Given the description of an element on the screen output the (x, y) to click on. 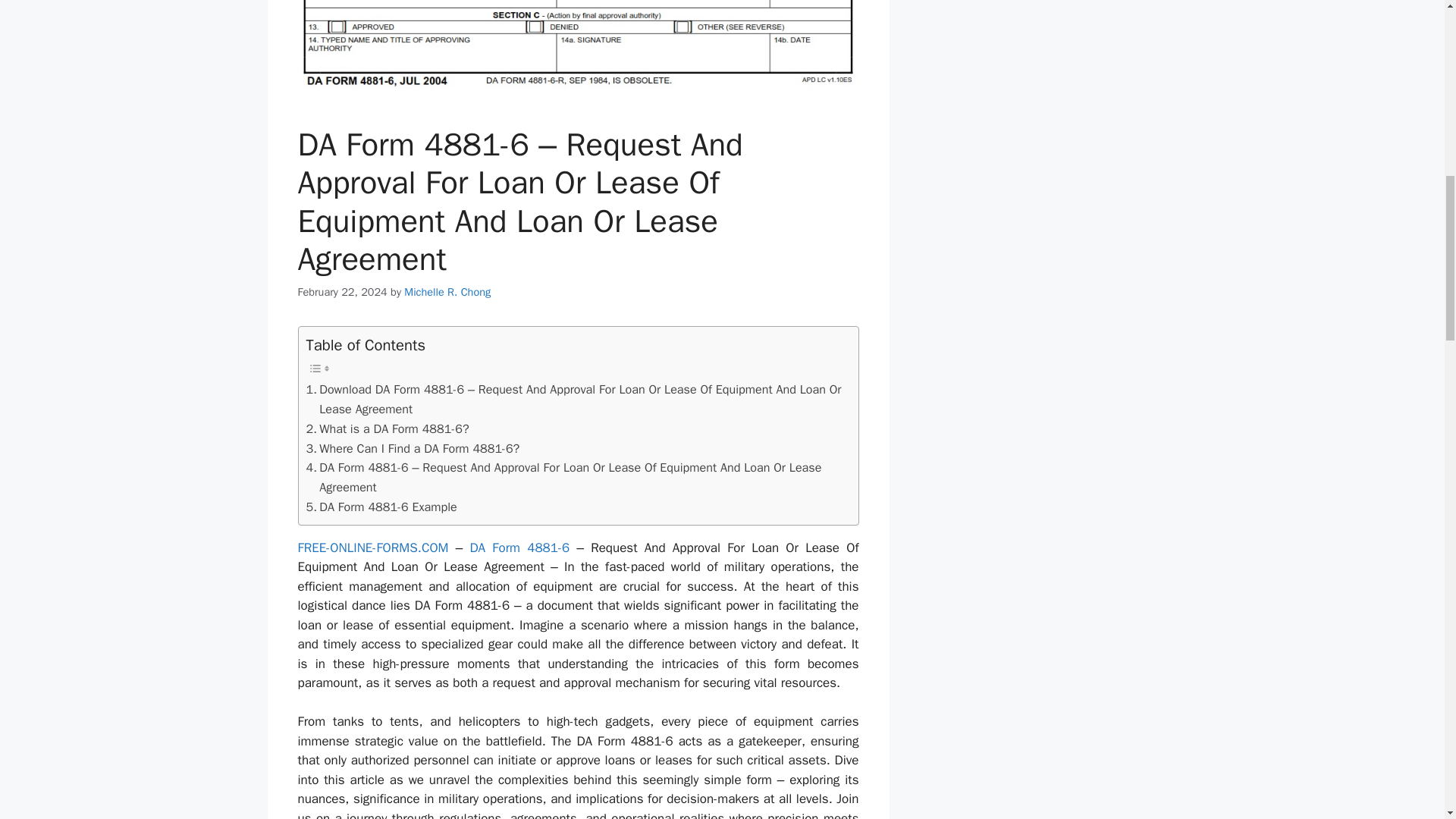
DA Form 4881 6 (578, 49)
Where Can I Find a DA Form 4881-6? (412, 448)
What is a DA Form 4881-6? (386, 428)
Michelle R. Chong (447, 291)
DA Form 4881-6 Example (381, 506)
View all posts by Michelle R. Chong (447, 291)
FREE-ONLINE-FORMS.COM (372, 547)
What is a DA Form 4881-6? (386, 428)
DA Form 4881-6 (518, 547)
Where Can I Find a DA Form 4881-6? (412, 448)
DA Form 4881-6 Example (381, 506)
